Given the description of an element on the screen output the (x, y) to click on. 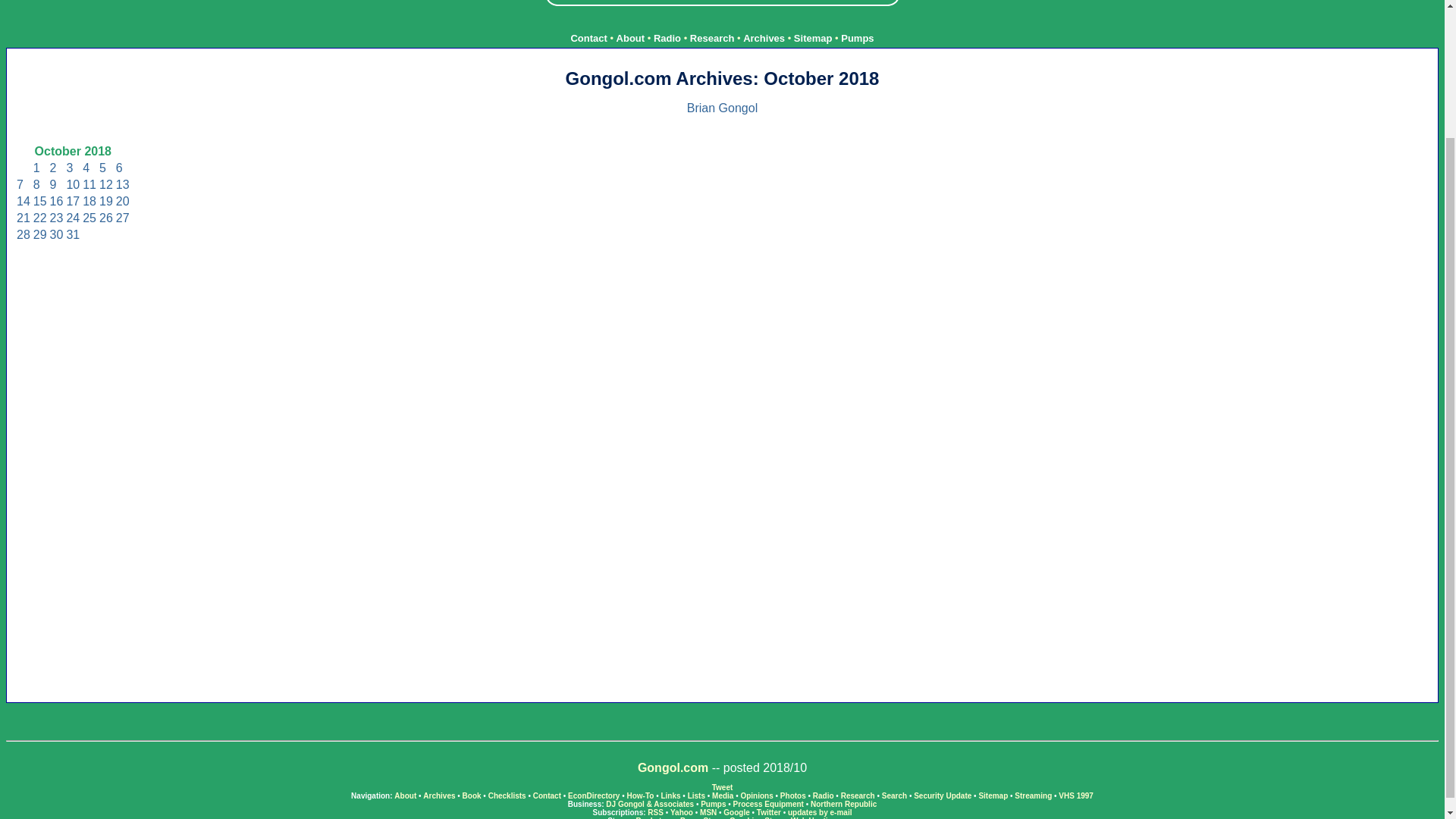
15 (39, 201)
11 (89, 184)
Advertisement (721, 2)
10 (72, 184)
Contact (588, 38)
14 (23, 201)
16 (56, 201)
12 (106, 184)
Pumps (857, 38)
17 (72, 201)
22 (39, 217)
24 (72, 217)
About (630, 38)
Radio (667, 38)
19 (106, 201)
